Given the description of an element on the screen output the (x, y) to click on. 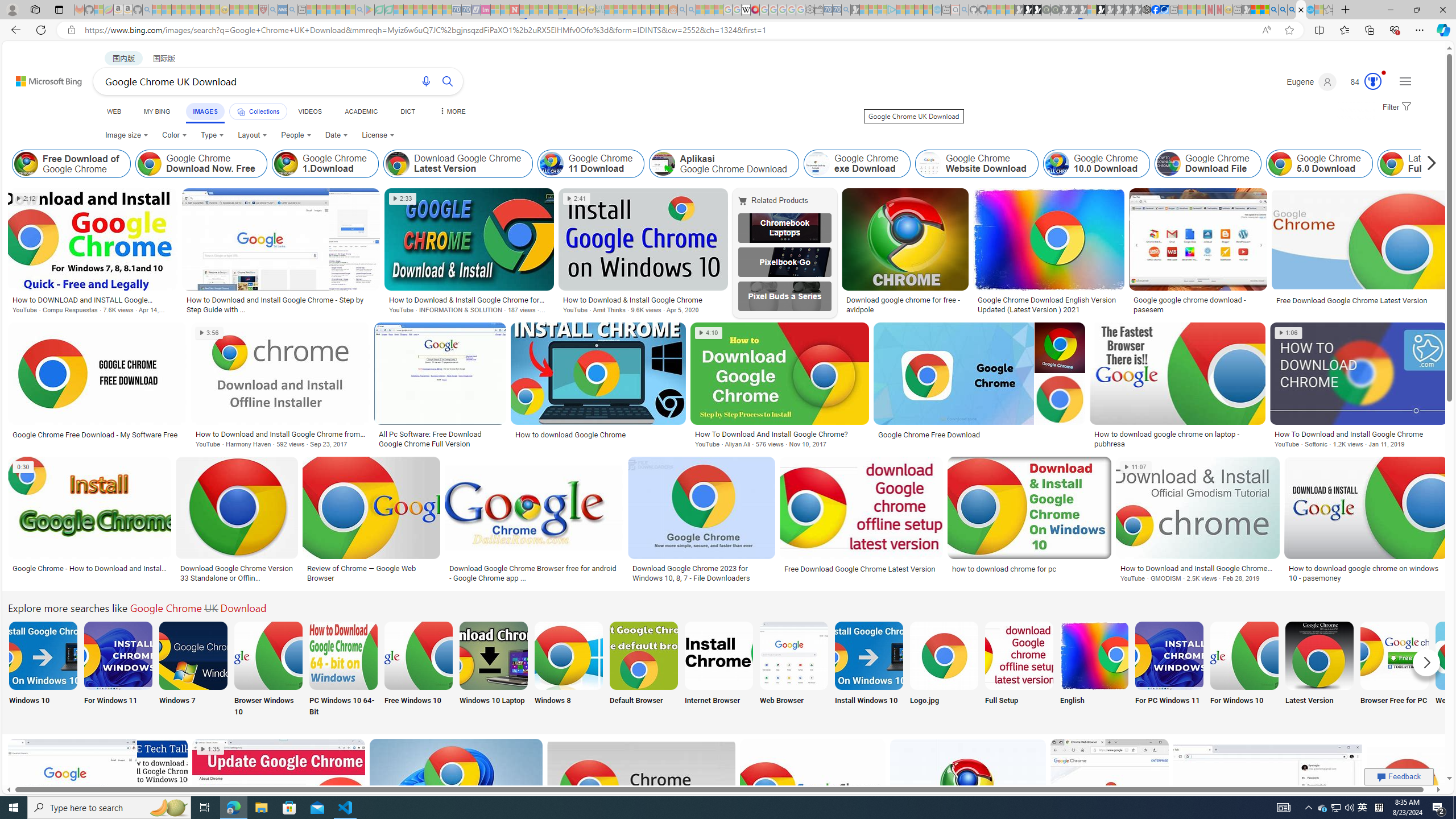
MY BING (156, 111)
Windows 10 Laptop (493, 669)
People (295, 135)
Google Chrome Download for Windows 10 (1243, 654)
Google Chrome Download English English (1093, 669)
Google Chrome Download PC Windows 10 64-Bit (342, 654)
Pixelbook Go (784, 261)
Date (336, 135)
Google Pixelbook Go UK (784, 261)
